Given the description of an element on the screen output the (x, y) to click on. 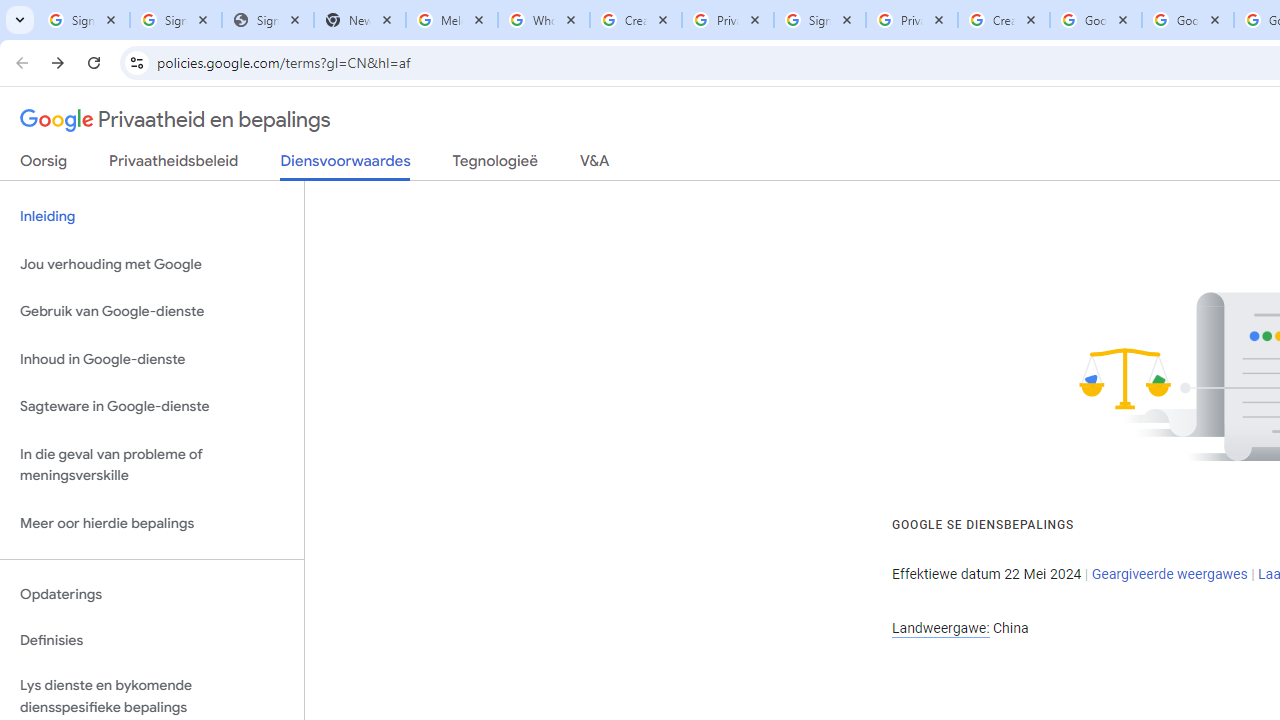
Gebruik van Google-dienste (152, 312)
Create your Google Account (1003, 20)
Meer oor hierdie bepalings (152, 522)
Oorsig (43, 165)
Inleiding (152, 216)
Who is my administrator? - Google Account Help (543, 20)
Inhoud in Google-dienste (152, 358)
Privaatheid en bepalings (175, 120)
Landweergawe: (940, 628)
